Given the description of an element on the screen output the (x, y) to click on. 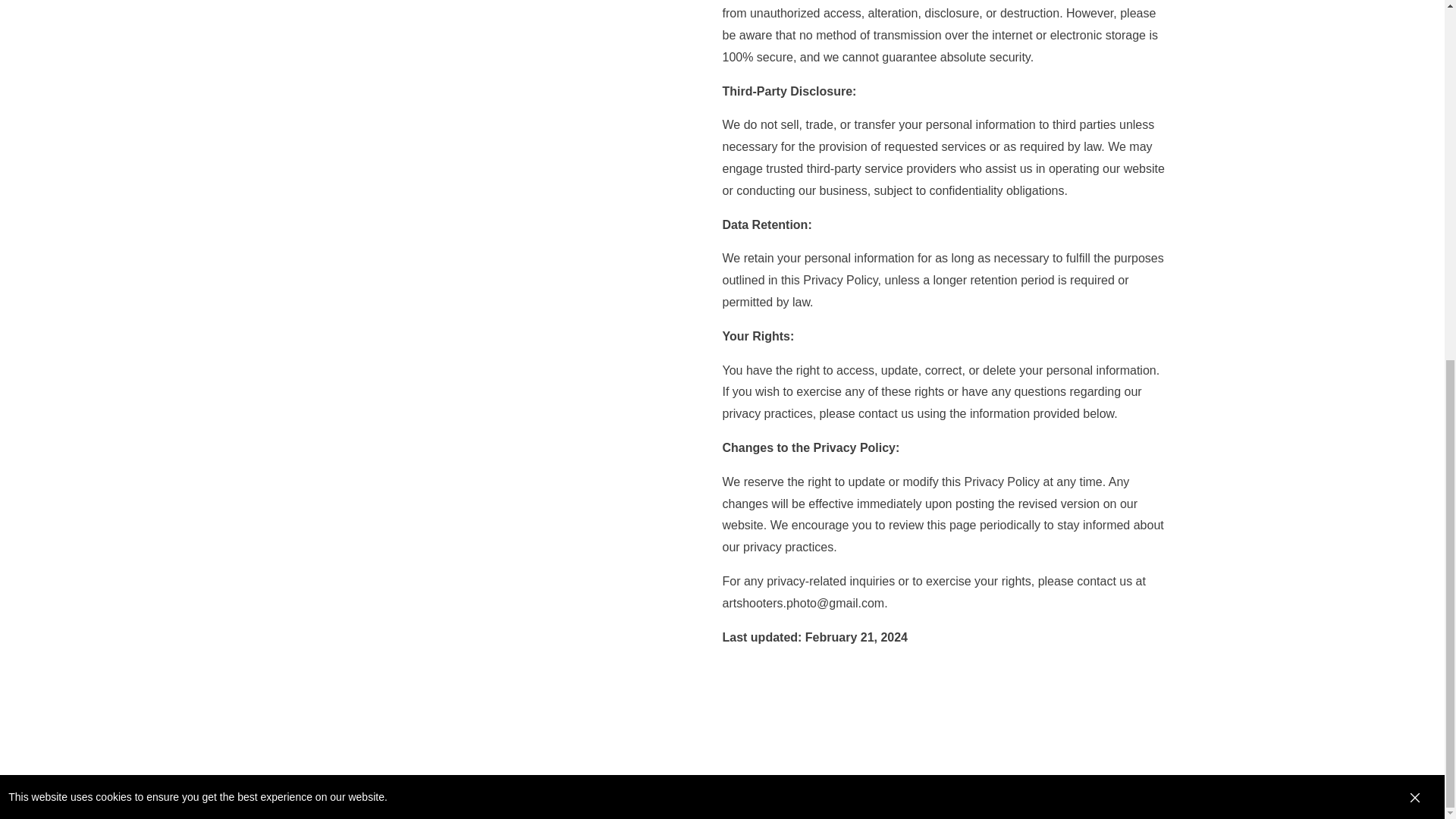
Pixpa (1385, 787)
Sales Terms (134, 787)
Privacy Policy (209, 787)
